Given the description of an element on the screen output the (x, y) to click on. 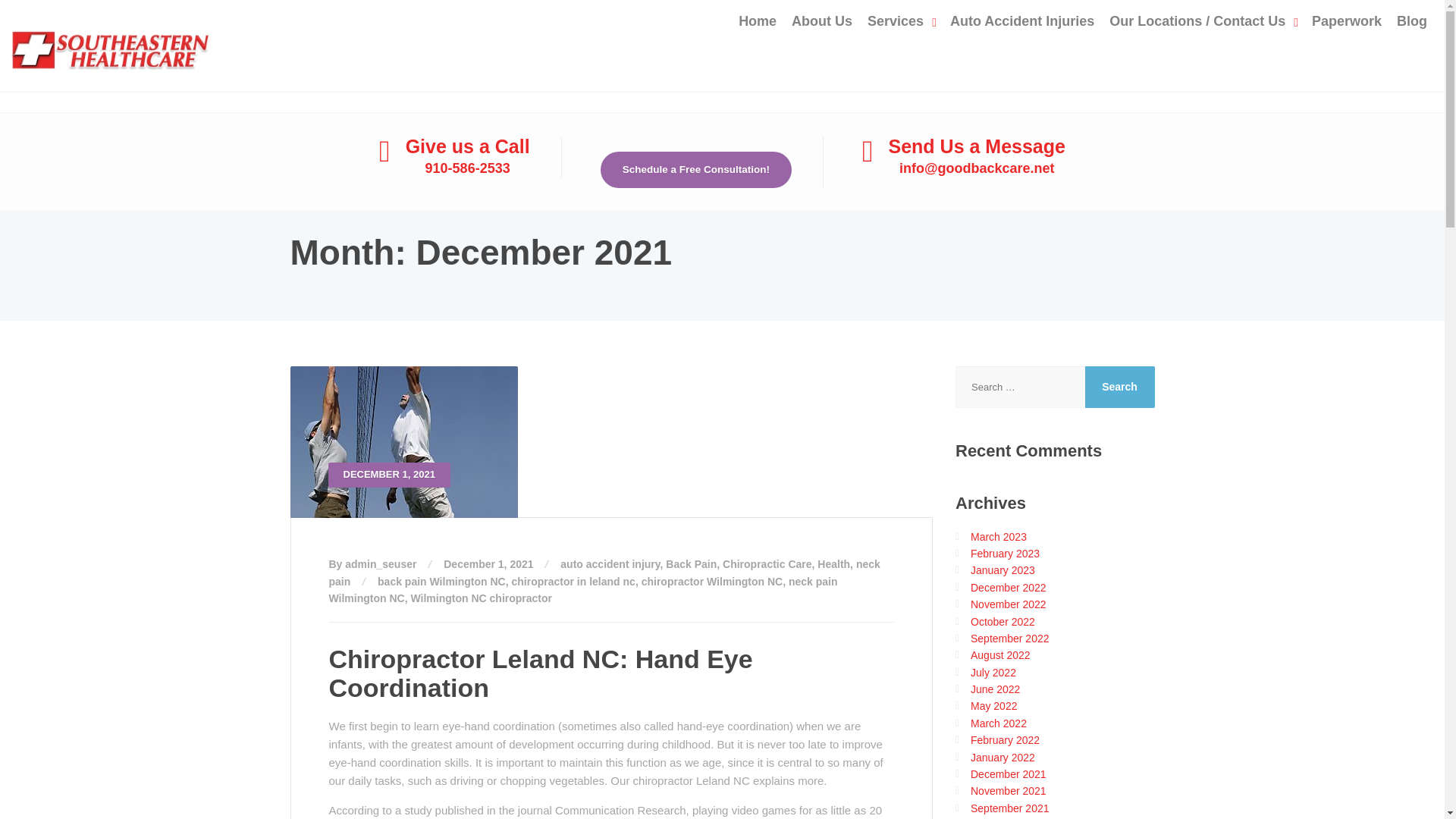
Paperwork (1346, 21)
Back Pain (690, 563)
Southeastern Healthcare (111, 44)
Auto Accident Injuries (1021, 21)
Search (1119, 386)
Search (1119, 386)
chiropractor in leland nc (572, 581)
neck pain (604, 572)
Wilmington NC chiropractor (480, 598)
About Us (822, 21)
auto accident injury (609, 563)
neck pain Wilmington NC (583, 589)
Chiropractor Leland NC: Hand Eye Coordination (540, 672)
DECEMBER 1, 2021 (611, 441)
Services (900, 21)
